Given the description of an element on the screen output the (x, y) to click on. 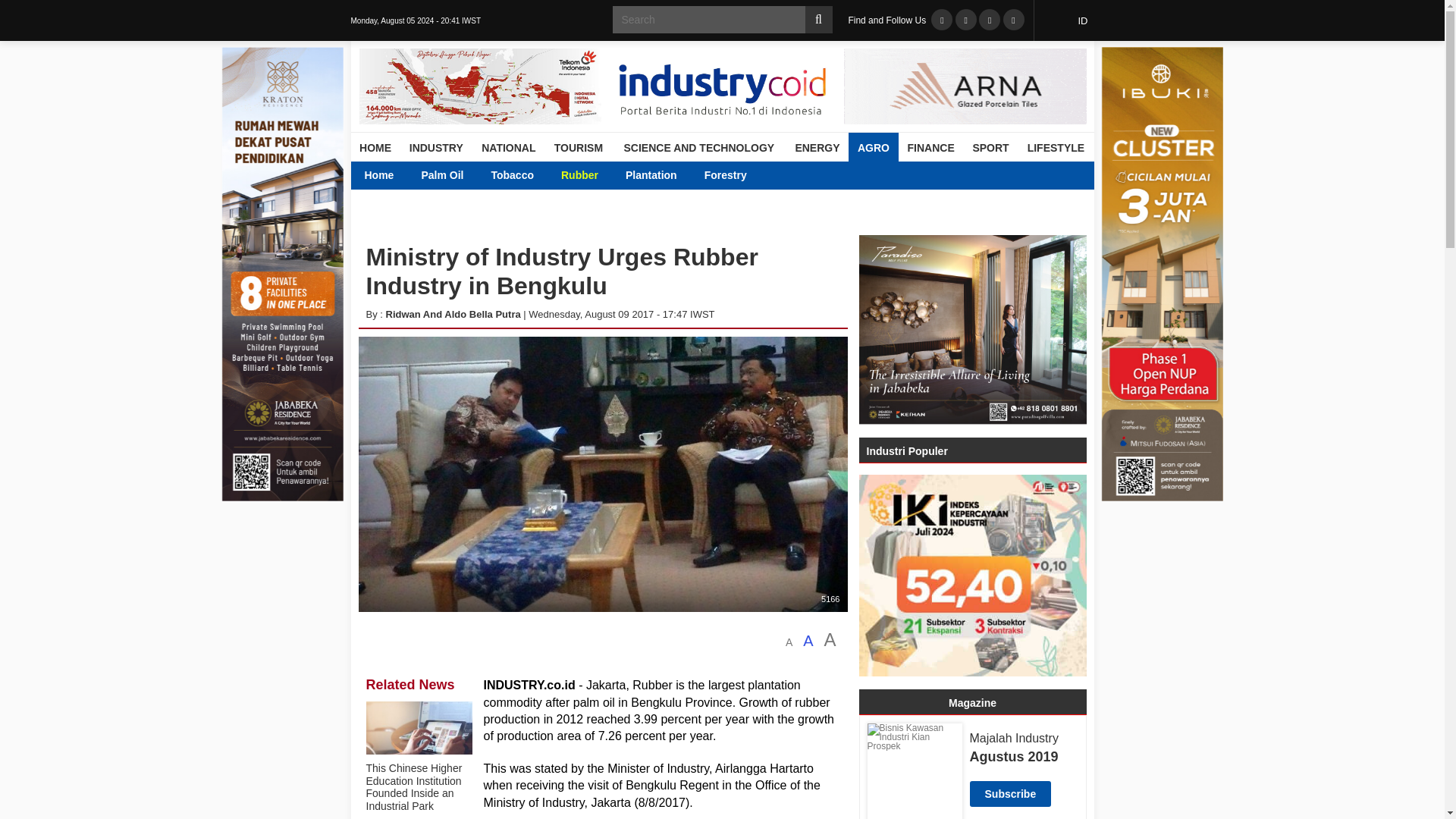
Paper (996, 175)
Property (528, 175)
SCIENCE AND TECHNOLOGY (698, 147)
Pharmacy (1064, 175)
INDUSTRY (435, 147)
ID (1067, 19)
MICE (648, 175)
Fertilizer (932, 175)
NATIONAL (507, 147)
Home (378, 175)
Culinary (586, 175)
Maritime (665, 175)
Cement (862, 175)
TOURISM (577, 147)
